Given the description of an element on the screen output the (x, y) to click on. 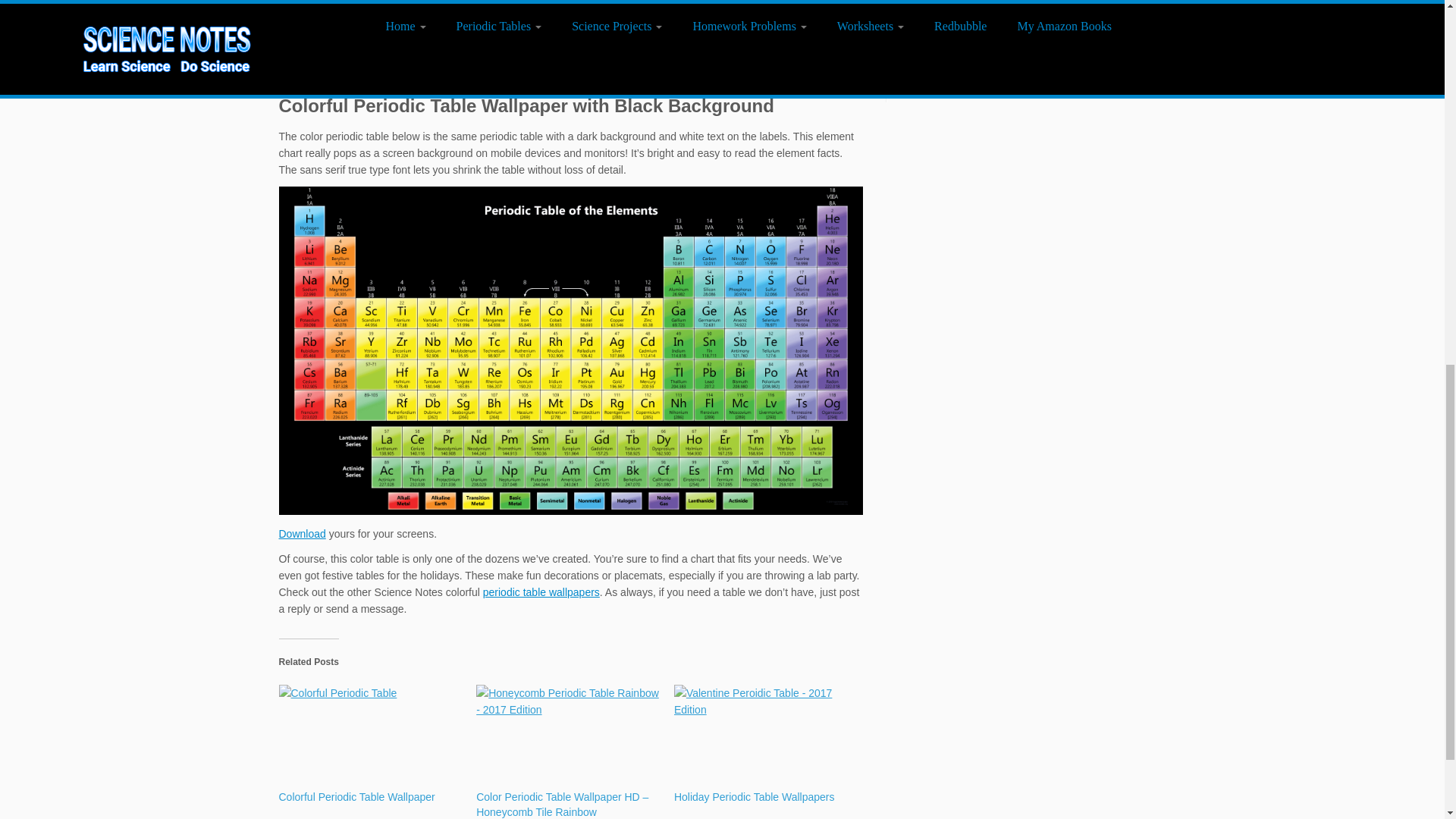
Holiday Periodic Table Wallpapers (765, 736)
Colorful Periodic Table Wallpaper (357, 797)
Colorful Periodic Table Wallpaper (370, 736)
Colorful Periodic Table With 118 Elements Wallpaper (571, 15)
